Given the description of an element on the screen output the (x, y) to click on. 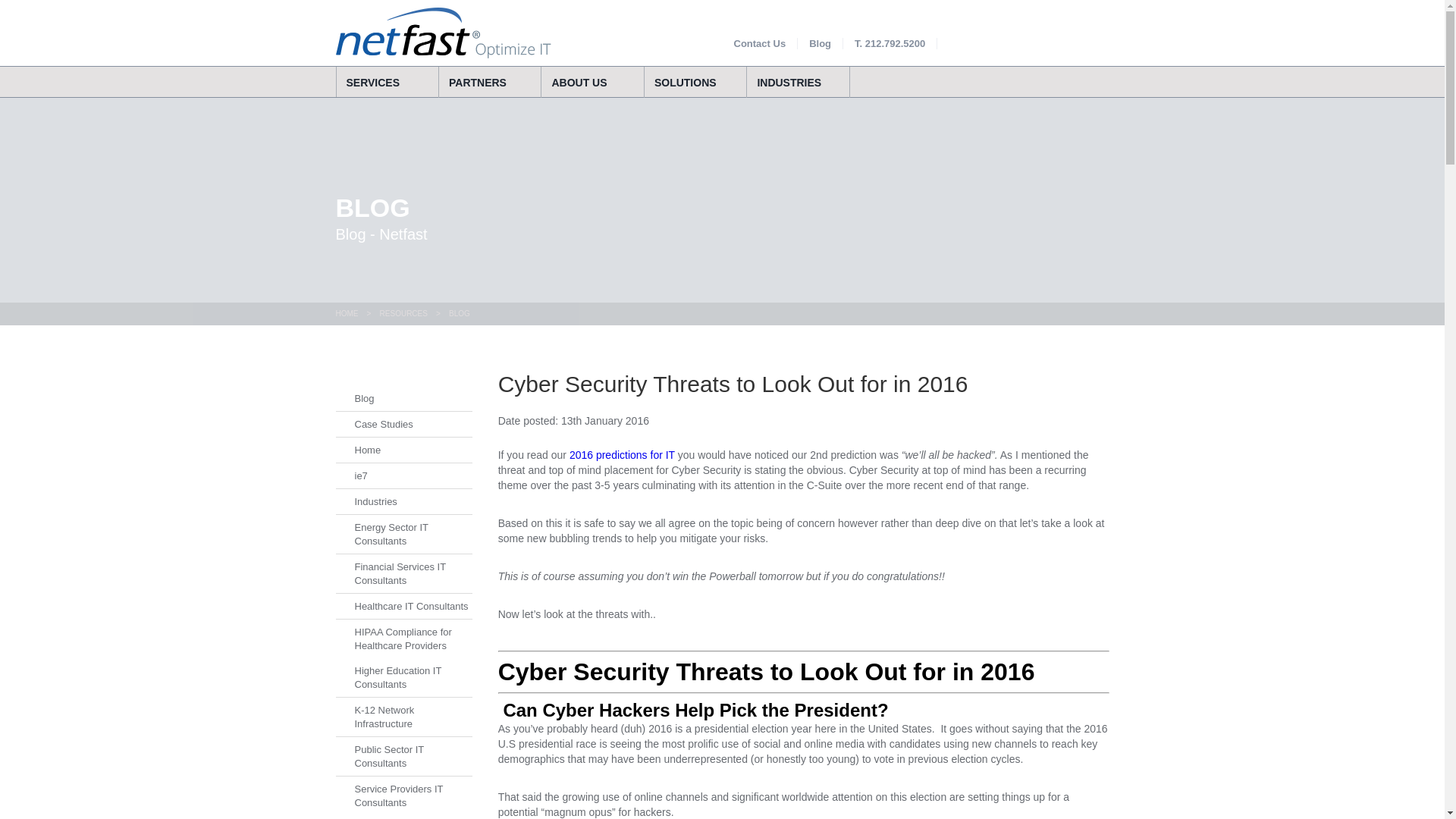
Blog (820, 43)
SERVICES (387, 81)
Contact Us (759, 43)
NetFast Optimized IT. (442, 32)
SOLUTIONS (695, 81)
Blog (820, 43)
ABOUT US (592, 81)
Contact Us (759, 43)
PARTNERS (489, 81)
